Given the description of an element on the screen output the (x, y) to click on. 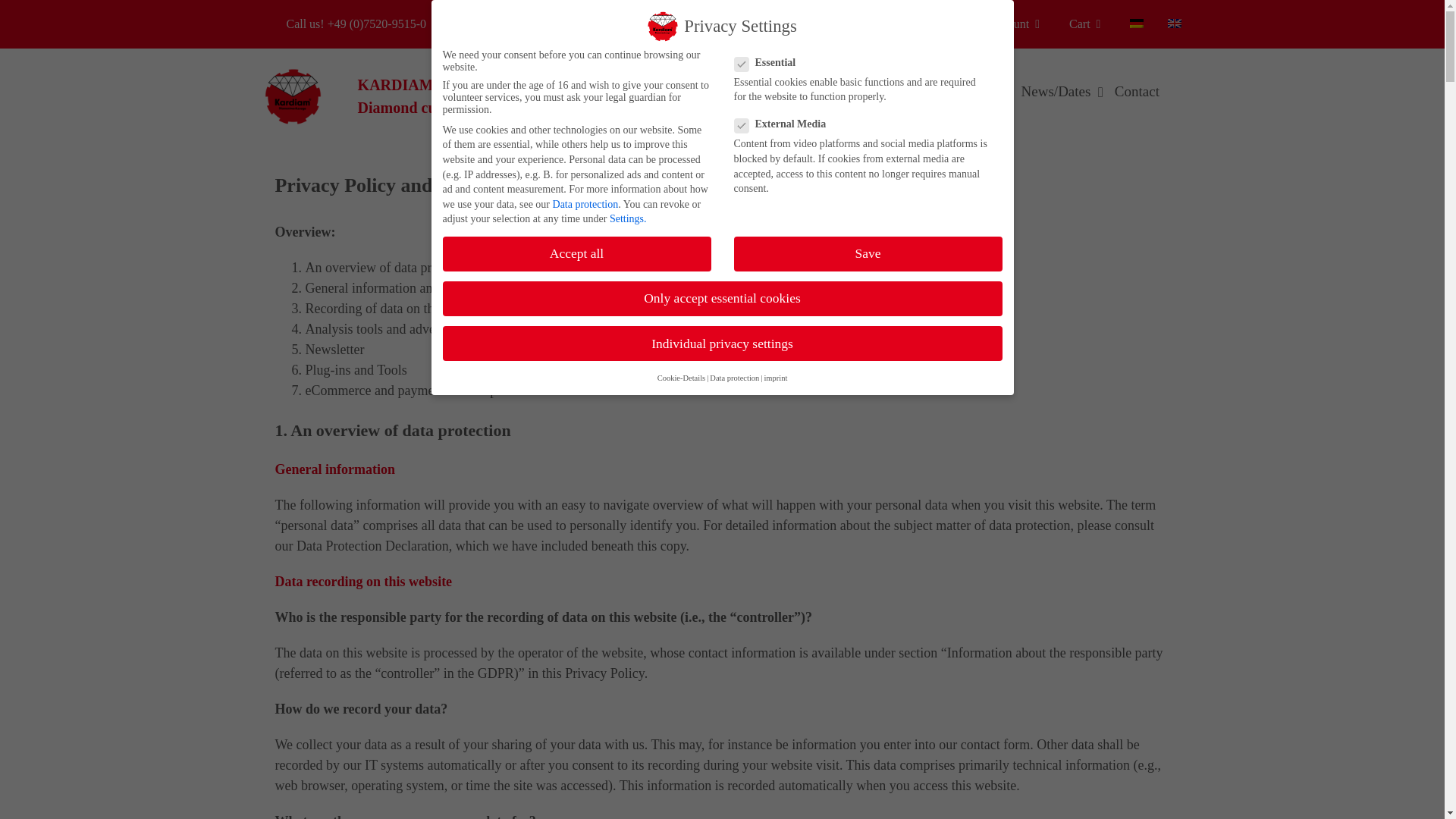
Company (789, 92)
My Account (1007, 24)
Catalogues (866, 92)
Open Cookie Preferences (32, 798)
Product finder (960, 92)
Contact (1136, 92)
Home (724, 92)
KA (429, 96)
